Given the description of an element on the screen output the (x, y) to click on. 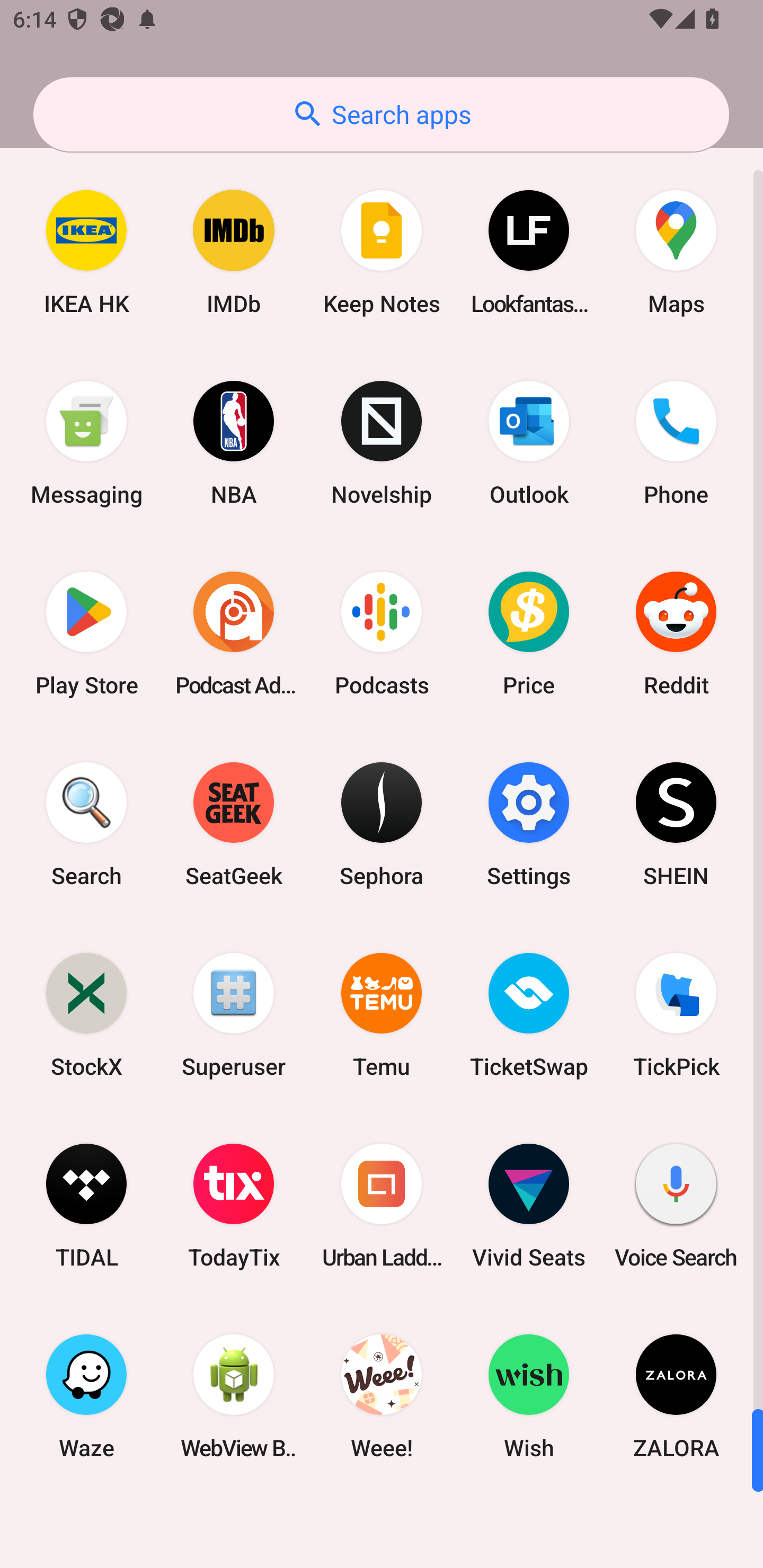
  Search apps (381, 114)
IKEA HK (86, 252)
IMDb (233, 252)
Keep Notes (381, 252)
Lookfantastic (528, 252)
Maps (676, 252)
Messaging (86, 442)
NBA (233, 442)
Novelship (381, 442)
Outlook (528, 442)
Phone (676, 442)
Play Store (86, 633)
Podcast Addict (233, 633)
Podcasts (381, 633)
Price (528, 633)
Reddit (676, 633)
Search (86, 823)
SeatGeek (233, 823)
Sephora (381, 823)
Settings (528, 823)
SHEIN (676, 823)
StockX (86, 1014)
Superuser (233, 1014)
Temu (381, 1014)
TicketSwap (528, 1014)
TickPick (676, 1014)
TIDAL (86, 1205)
TodayTix (233, 1205)
Urban Ladder (381, 1205)
Vivid Seats (528, 1205)
Voice Search (676, 1205)
Waze (86, 1396)
WebView Browser Tester (233, 1396)
Weee! (381, 1396)
Wish (528, 1396)
ZALORA (676, 1396)
